Given the description of an element on the screen output the (x, y) to click on. 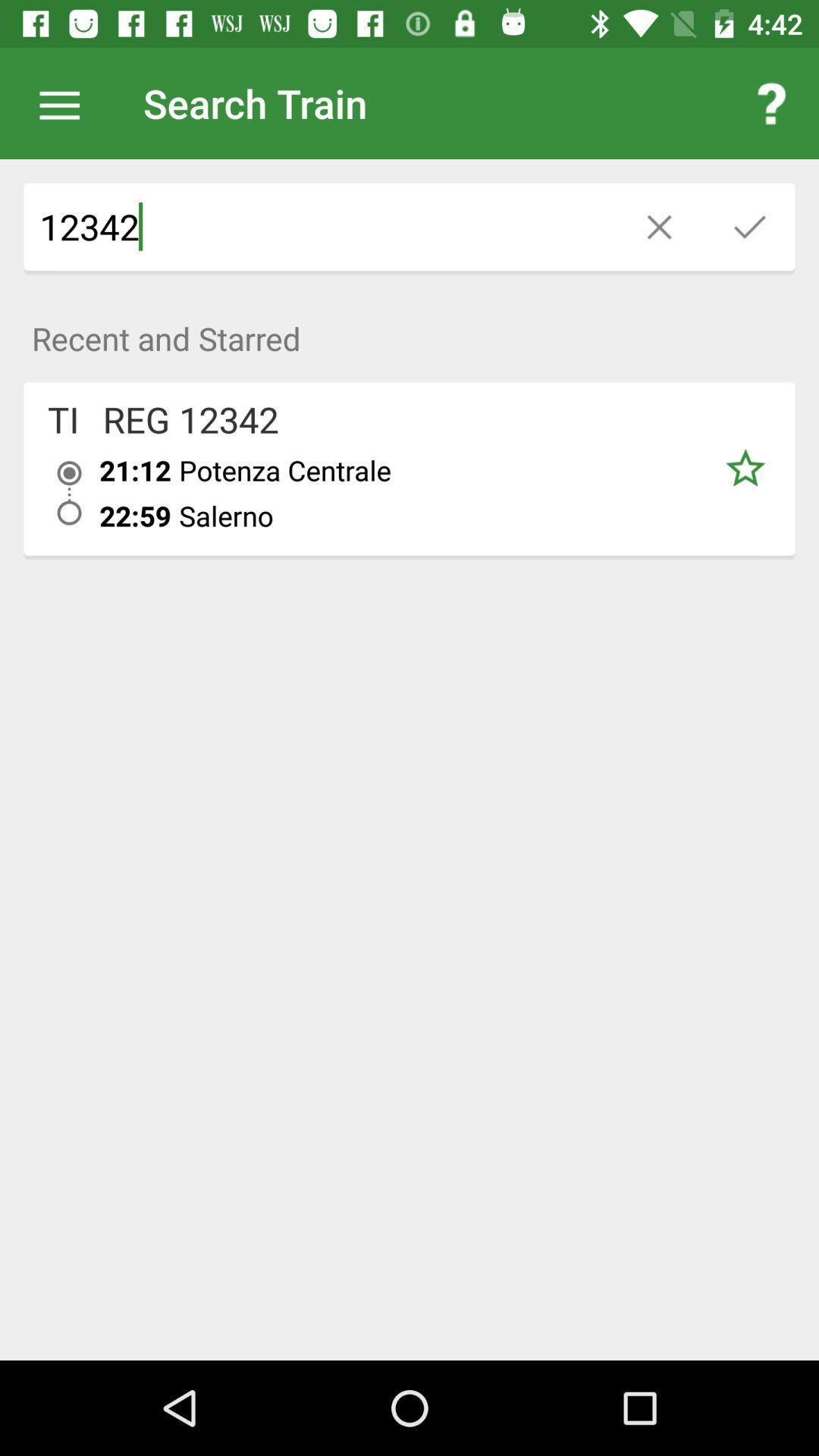
scroll to 21:12 item (135, 470)
